Given the description of an element on the screen output the (x, y) to click on. 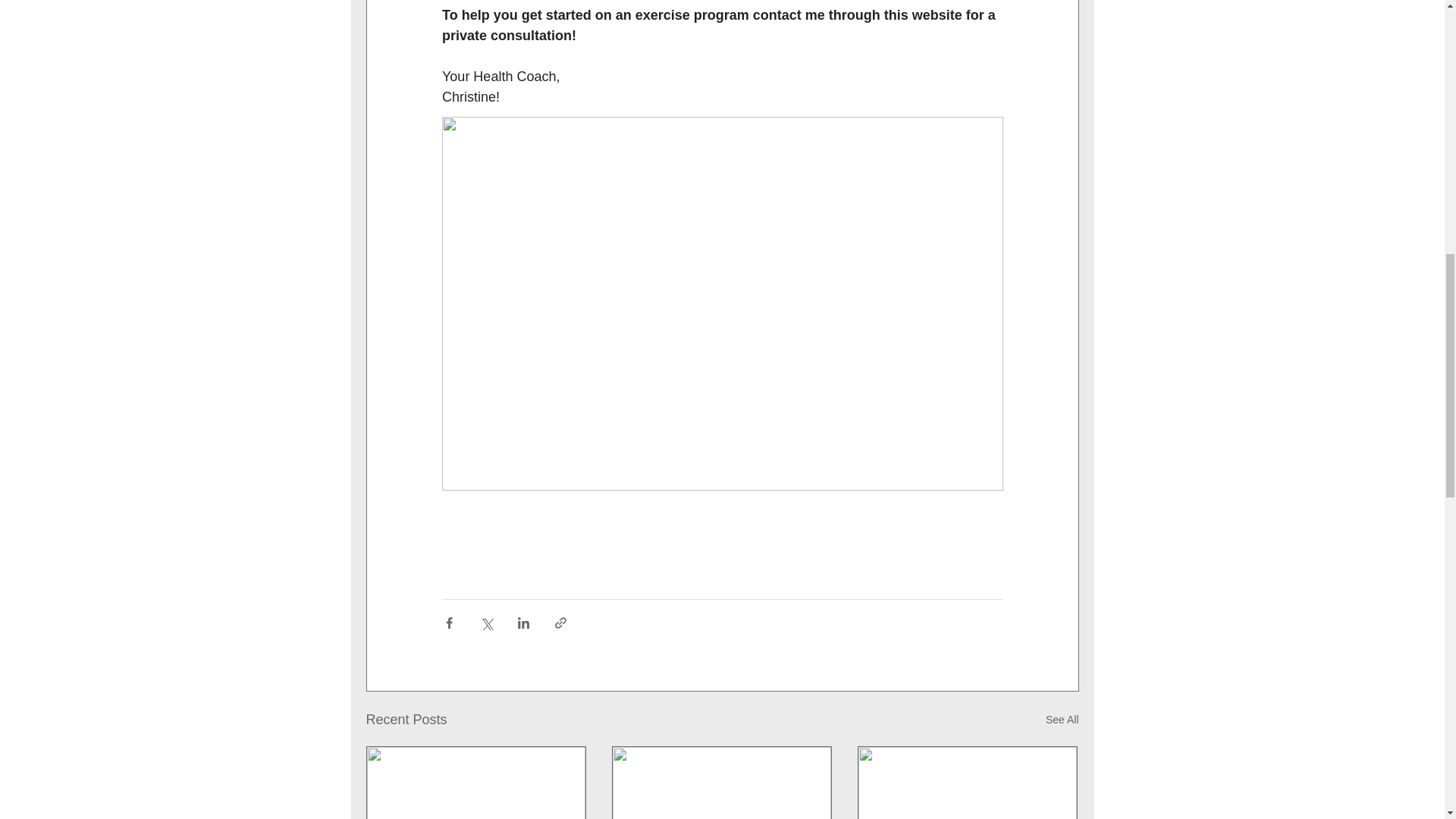
See All (1061, 720)
